Given the description of an element on the screen output the (x, y) to click on. 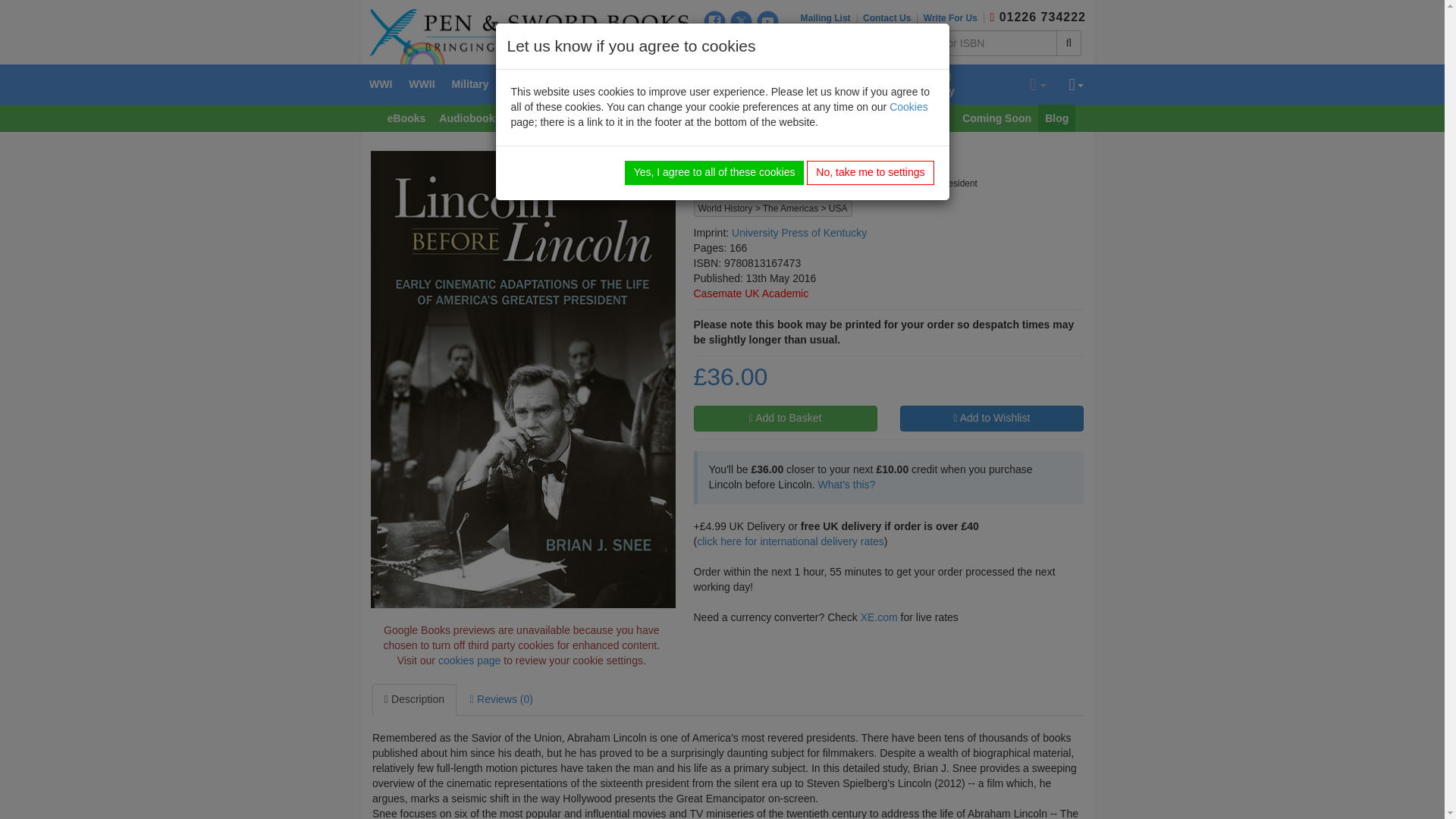
Contact Us (890, 18)
YouTube (767, 21)
TikTok (741, 45)
Mailing List (828, 18)
Write For Us (953, 18)
Your basket is empty (1037, 84)
Facebook (714, 21)
NetGalley (767, 45)
X (741, 21)
Instagram (714, 45)
